Given the description of an element on the screen output the (x, y) to click on. 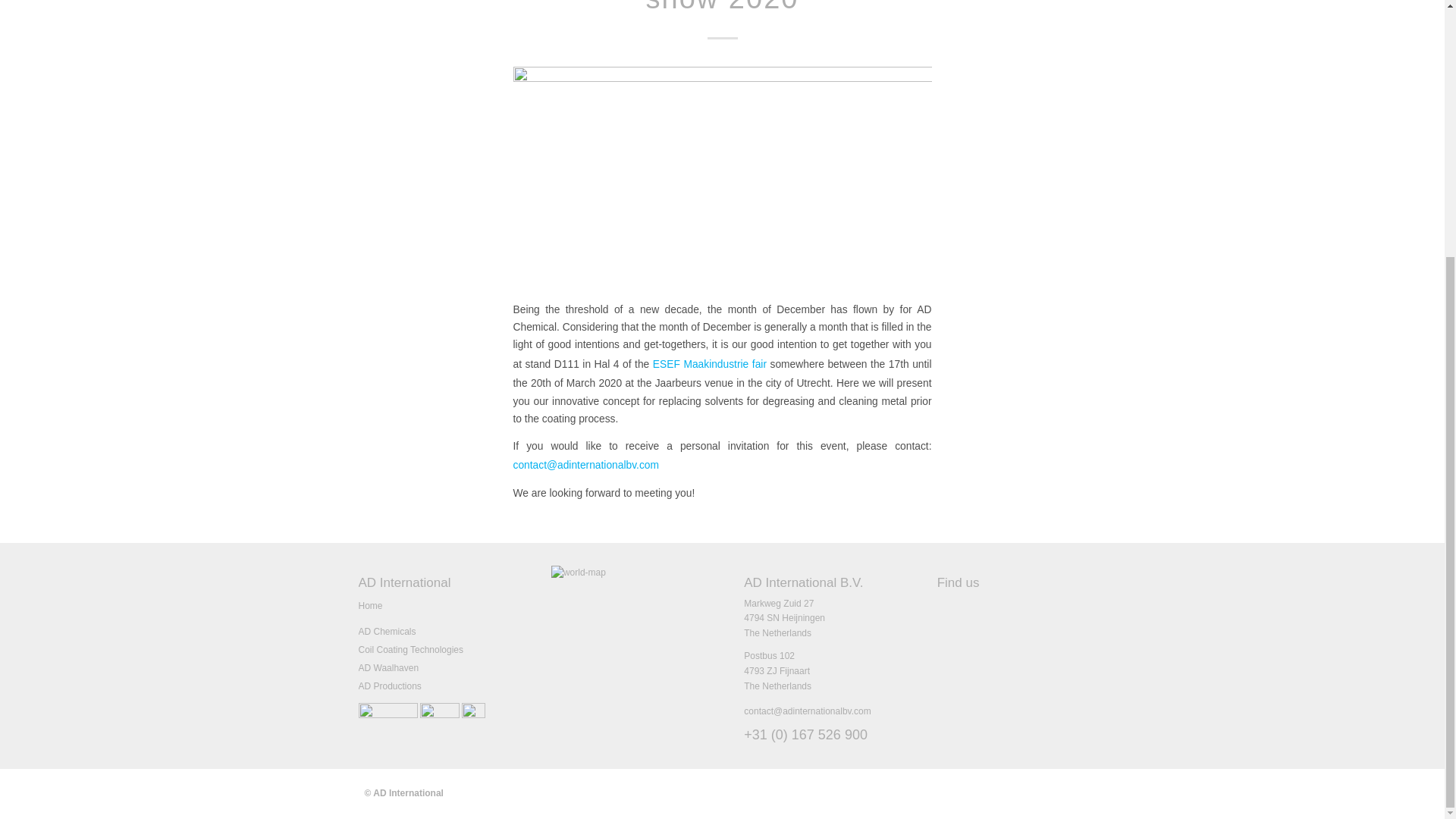
Meet AD Chemicals at the ESEF Maakindustrie trade show 2020 (721, 7)
ESEF Maakindustrie fair (709, 364)
Home (369, 605)
